Given the description of an element on the screen output the (x, y) to click on. 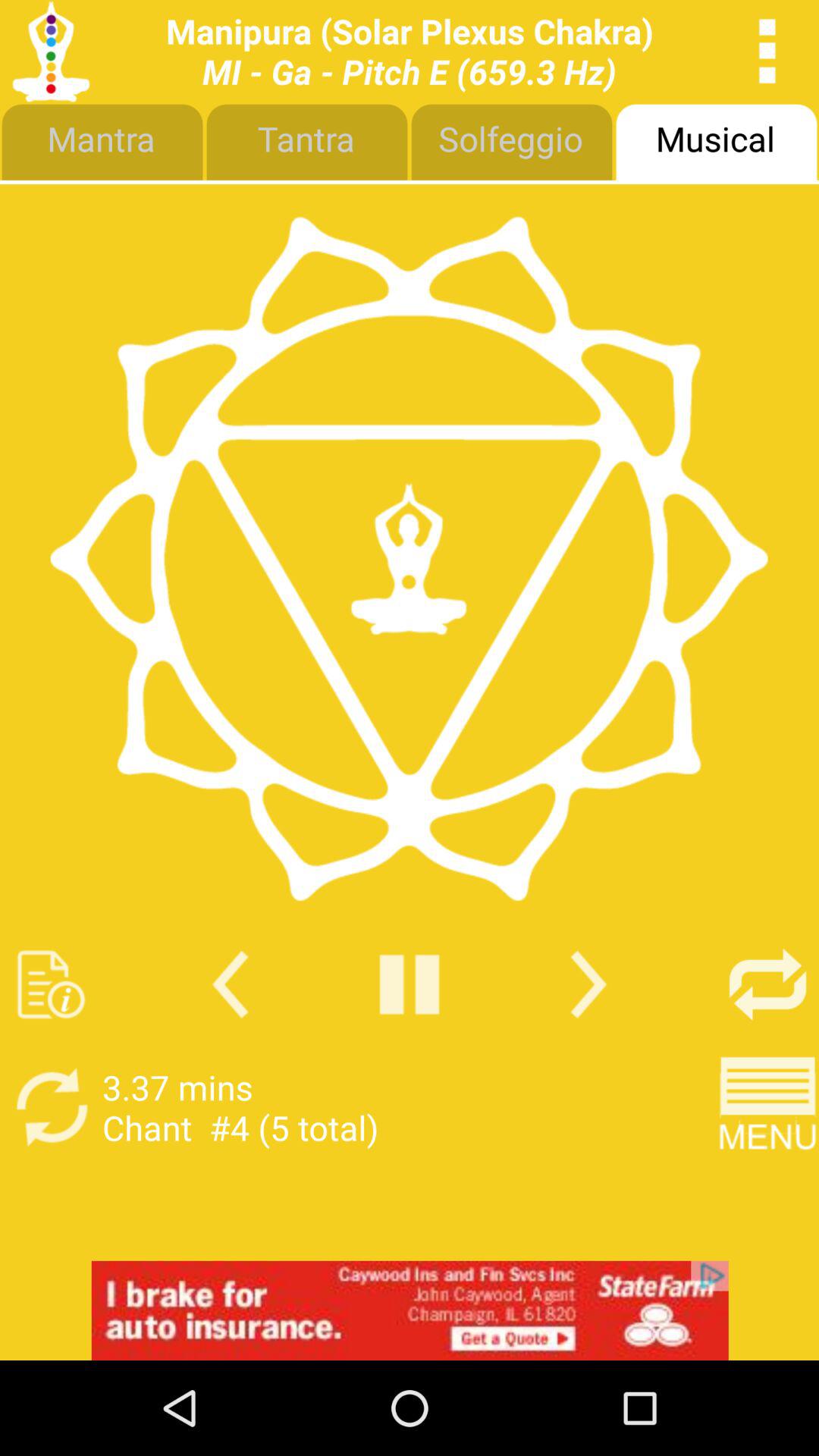
refresh (51, 1107)
